Given the description of an element on the screen output the (x, y) to click on. 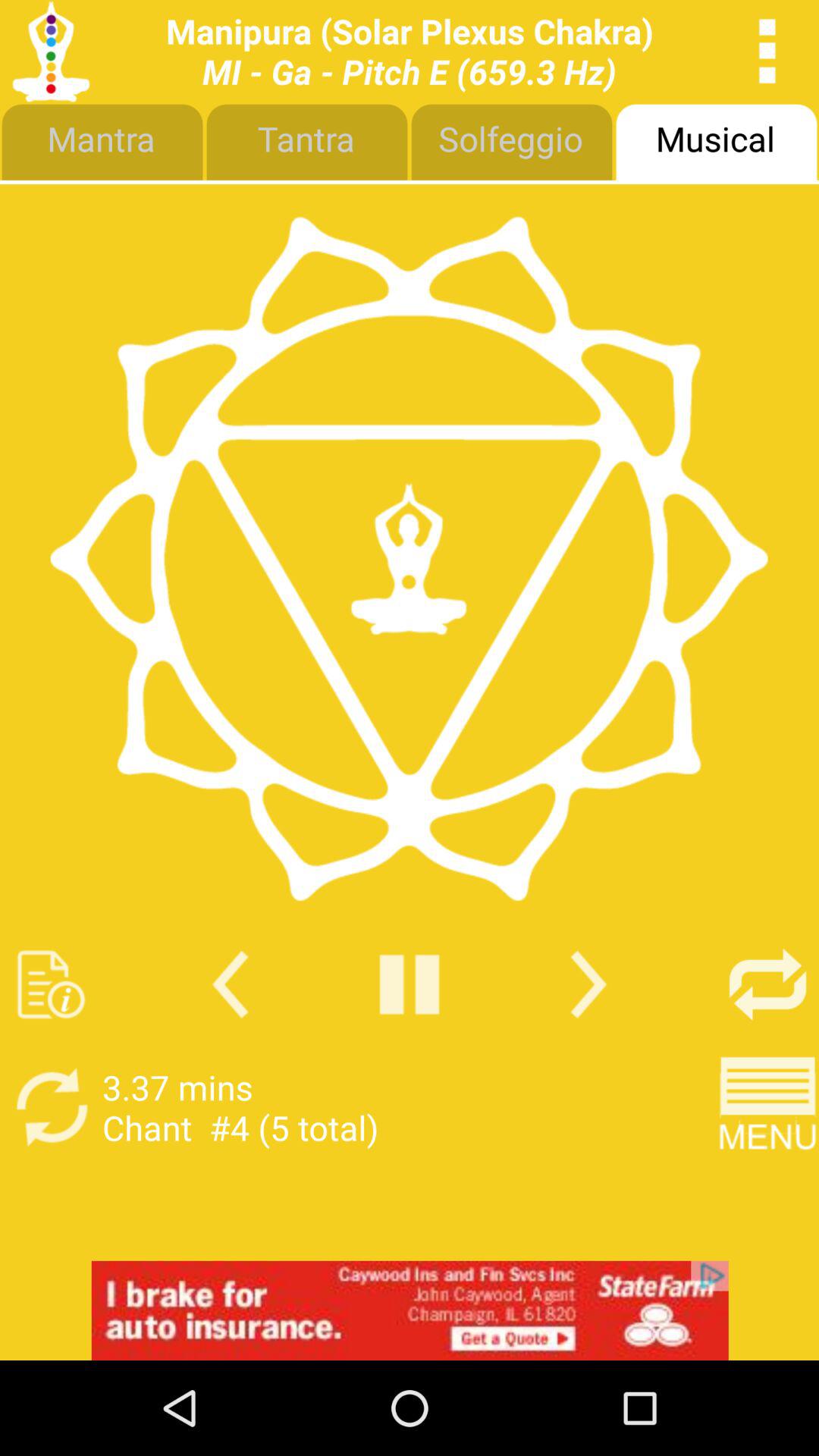
refresh (51, 1107)
